Given the description of an element on the screen output the (x, y) to click on. 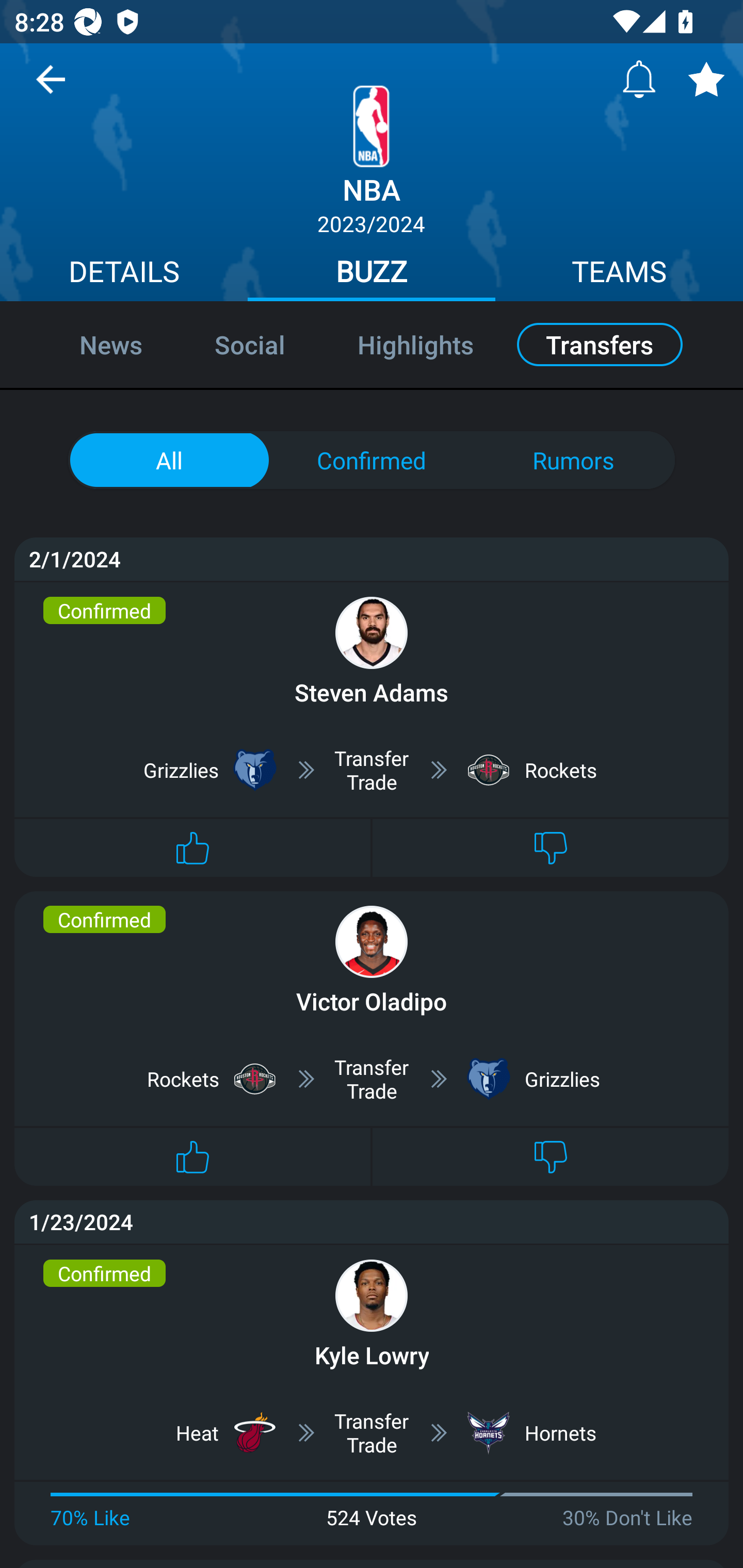
Navigate up (50, 86)
DETAILS (123, 274)
BUZZ (371, 274)
TEAMS (619, 274)
News (89, 344)
Social (249, 344)
Highlights (415, 344)
Confirmed (371, 460)
Rumors (573, 460)
